Given the description of an element on the screen output the (x, y) to click on. 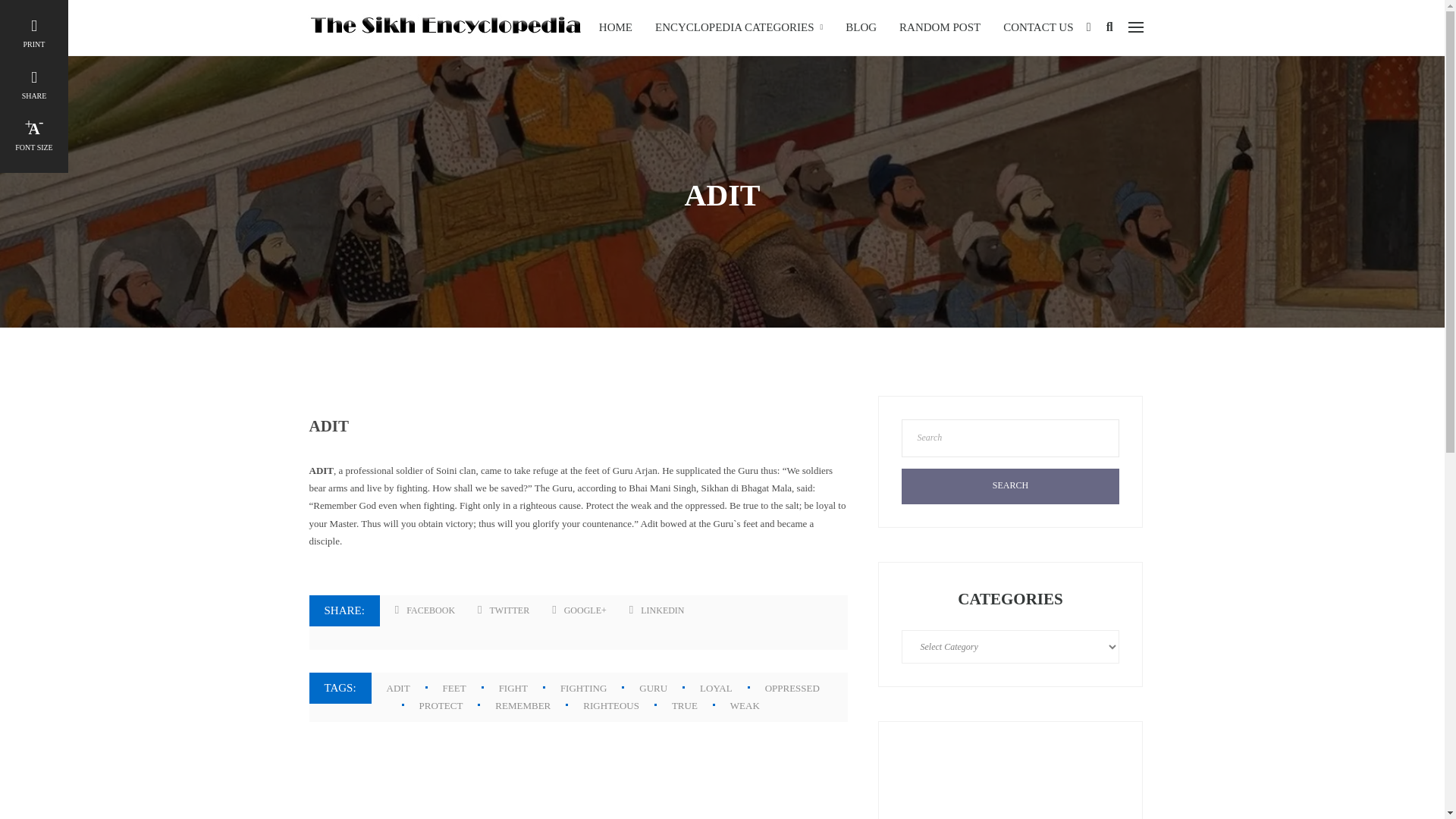
Share toTwitter (503, 610)
HOME (615, 27)
Share toLinkedin (656, 610)
Share toFacebook (424, 610)
RANDOM POST (939, 27)
ENCYCLOPEDIA CATEGORIES (738, 27)
The Sikh Encyclopedia (443, 25)
Advertisement (1010, 781)
CONTACT US (1037, 27)
BLOG (861, 27)
